Given the description of an element on the screen output the (x, y) to click on. 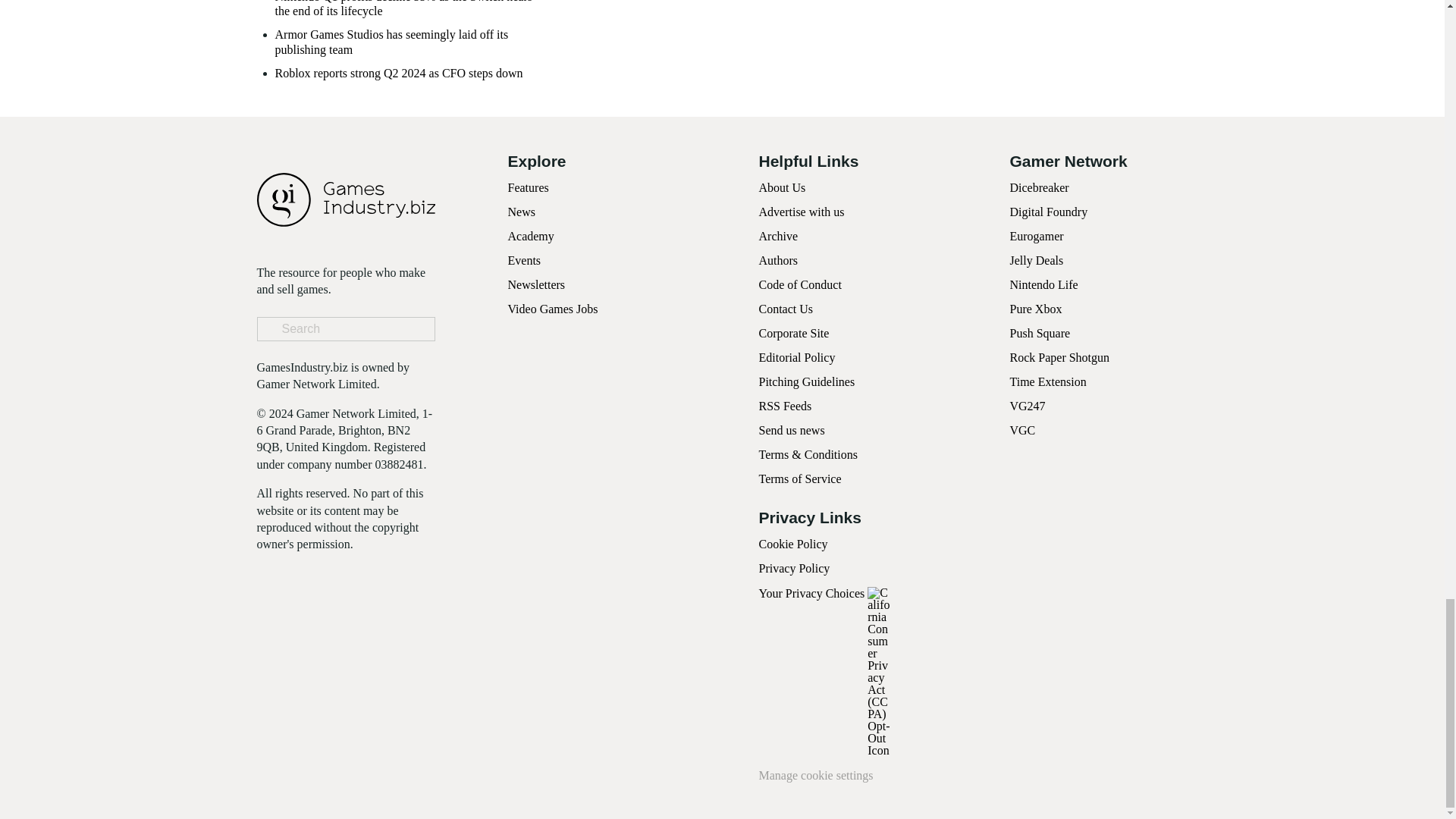
Events (524, 416)
Video Games Jobs (553, 464)
Academy (531, 391)
News (521, 367)
Advertise with us (801, 367)
Features (528, 343)
Newsletters (537, 440)
Twitch staff fear further layoffs (350, 190)
